Given the description of an element on the screen output the (x, y) to click on. 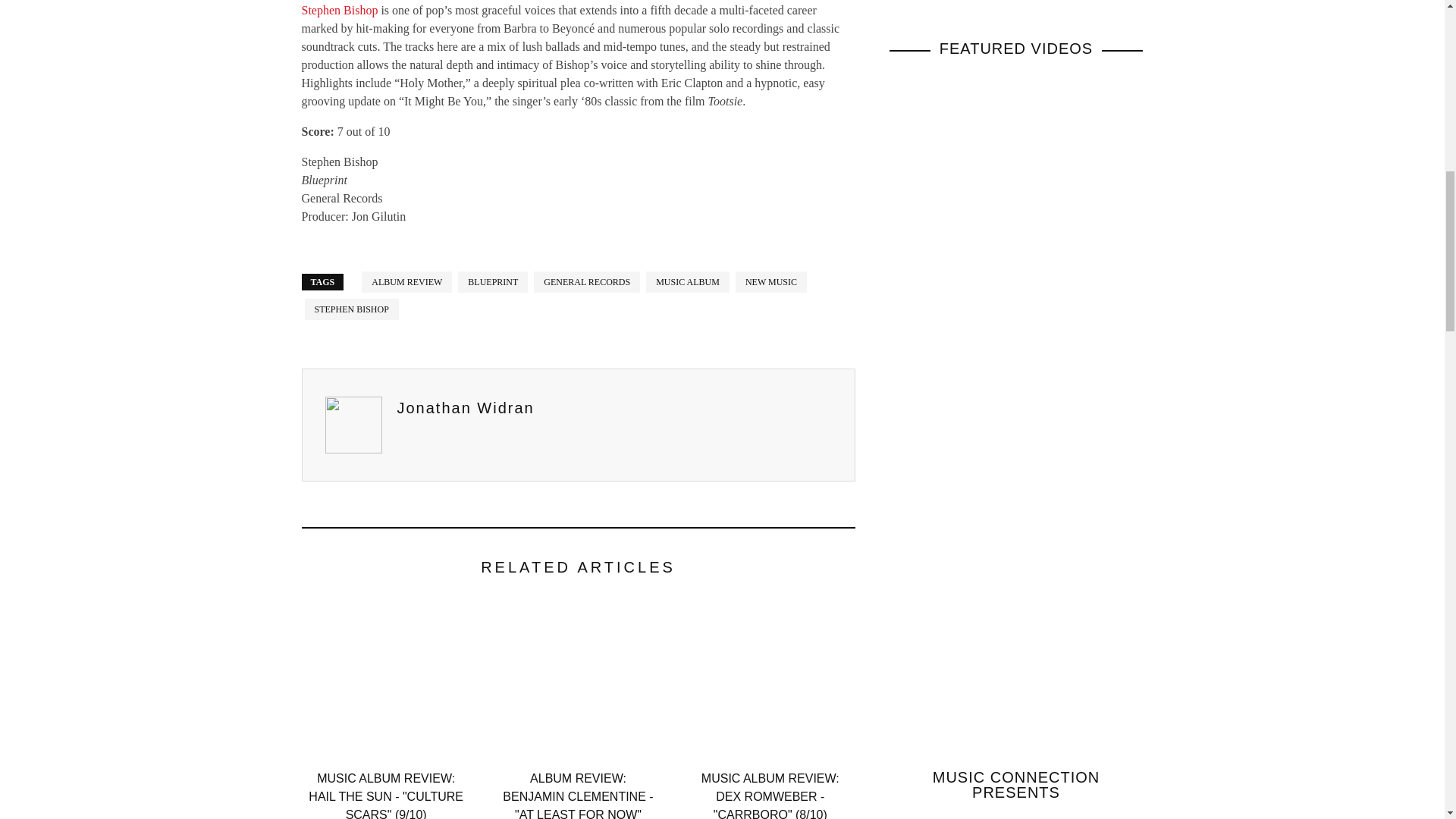
3rd party ad content (1002, 2)
View all posts tagged Blueprint (492, 281)
View all posts tagged music album (687, 281)
View all posts tagged album review (406, 281)
View all posts tagged new music (770, 281)
YouTube video player (1015, 196)
View all posts tagged Stephen Bishop (351, 309)
YouTube video player (1015, 429)
View all posts tagged General Records (587, 281)
